Given the description of an element on the screen output the (x, y) to click on. 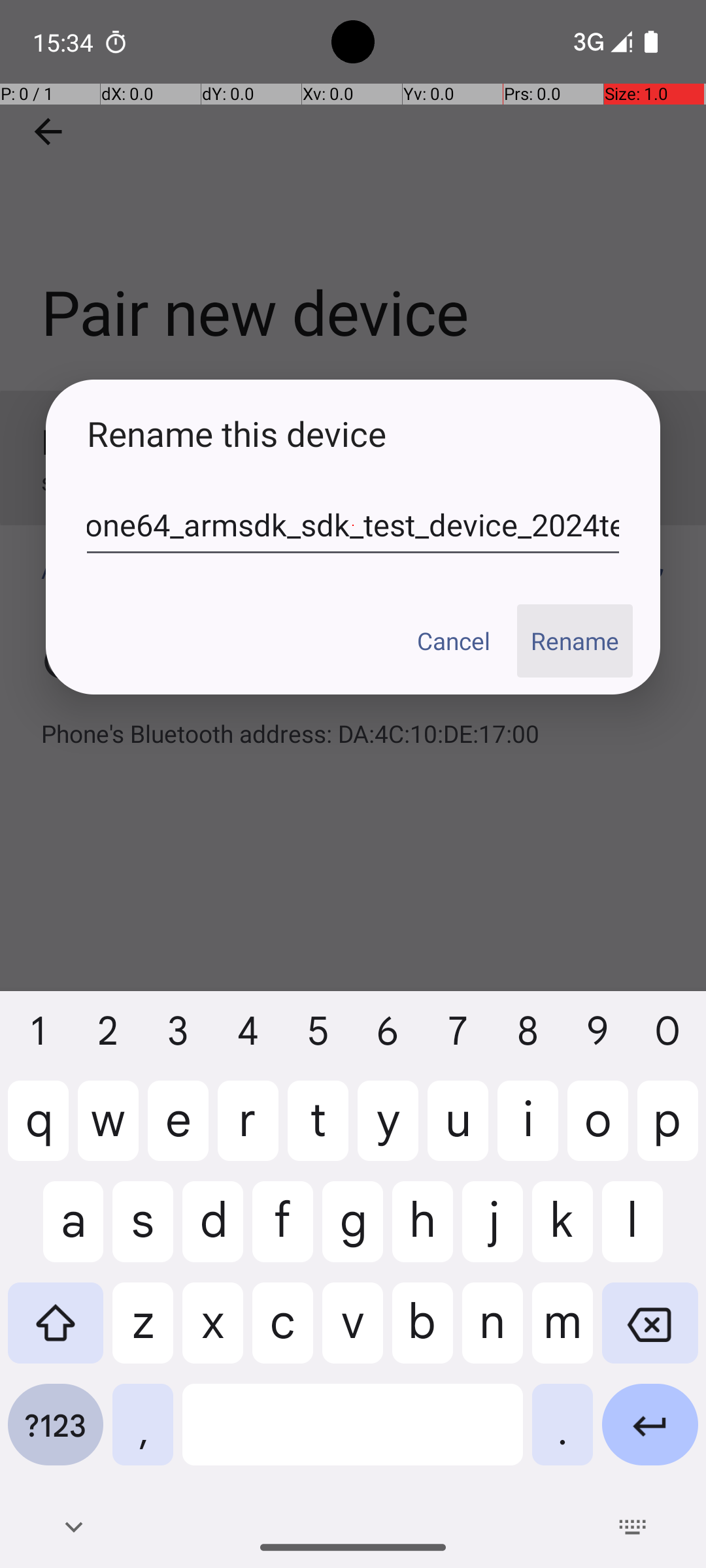
sdk_gphone64_armsdk_sdk_test_device_2024test_device_202364 Element type: android.widget.EditText (352, 525)
